Given the description of an element on the screen output the (x, y) to click on. 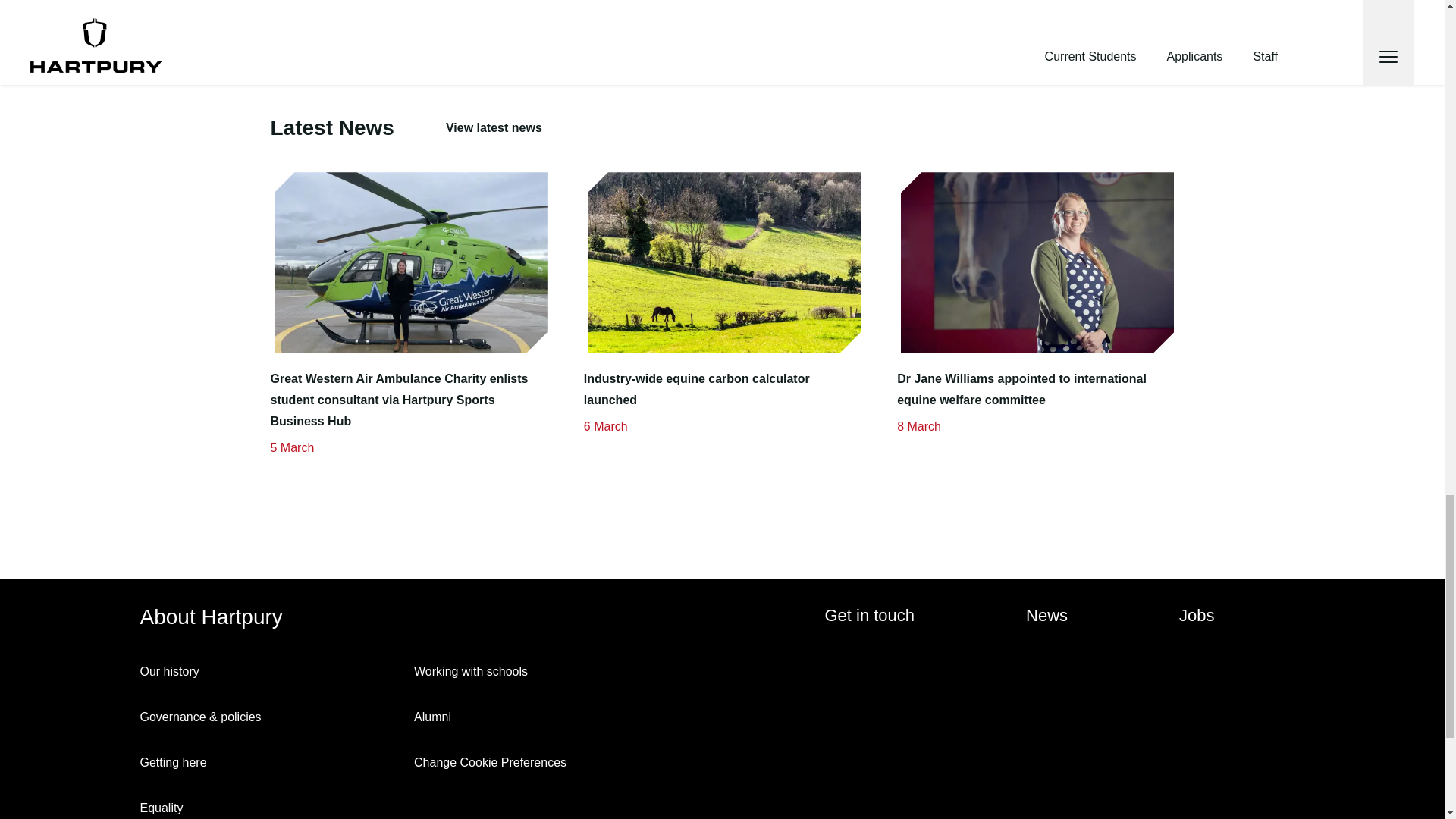
Our history (270, 671)
About Hartpury (216, 616)
View latest news (493, 127)
Industry-wide equine carbon calculator launched (721, 389)
